Given the description of an element on the screen output the (x, y) to click on. 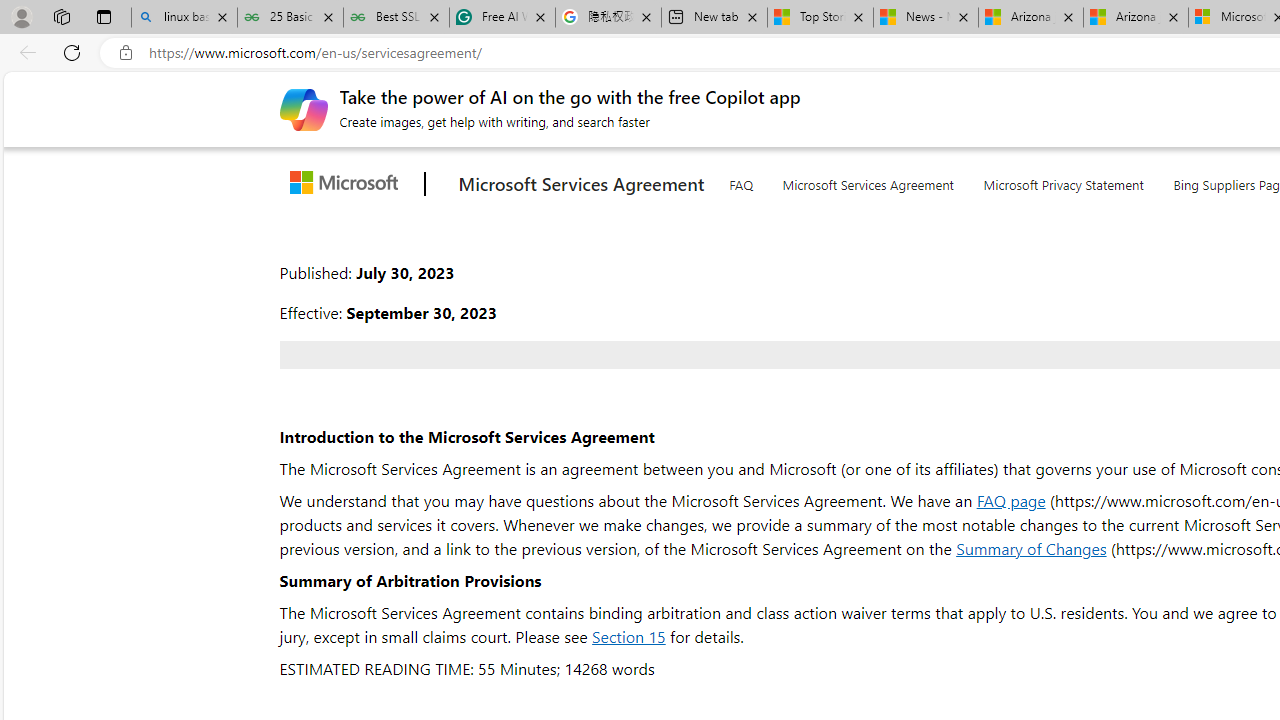
Microsoft Privacy Statement (1063, 180)
Create images, get help with writing, and search faster (303, 108)
Summary of Changes (1031, 547)
News - MSN (925, 17)
Microsoft Privacy Statement (1063, 181)
Section 15 (628, 636)
